Given the description of an element on the screen output the (x, y) to click on. 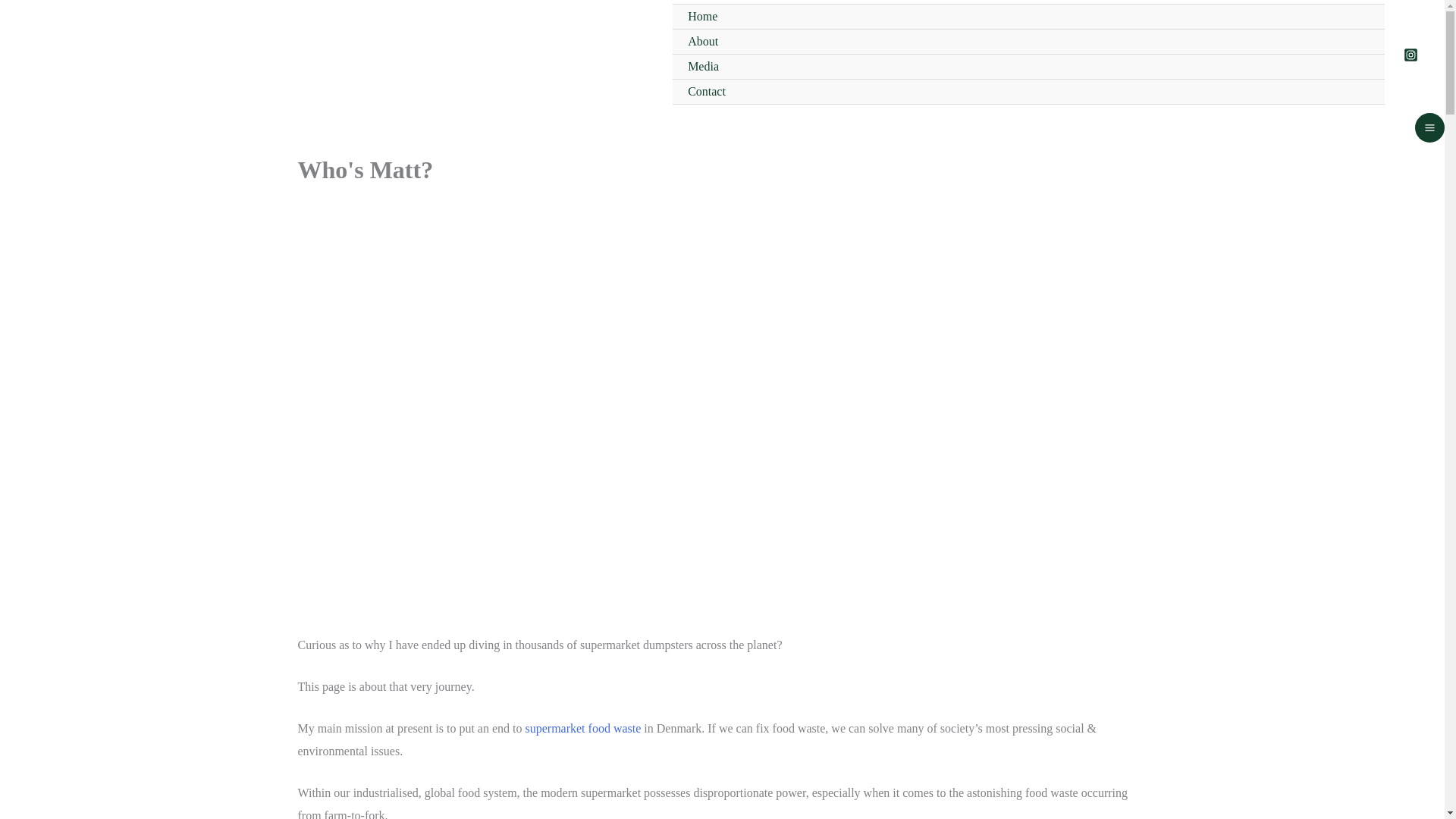
Home (1028, 16)
supermarket food waste (582, 727)
Contact (1028, 91)
Media (1028, 66)
About (1028, 41)
